Given the description of an element on the screen output the (x, y) to click on. 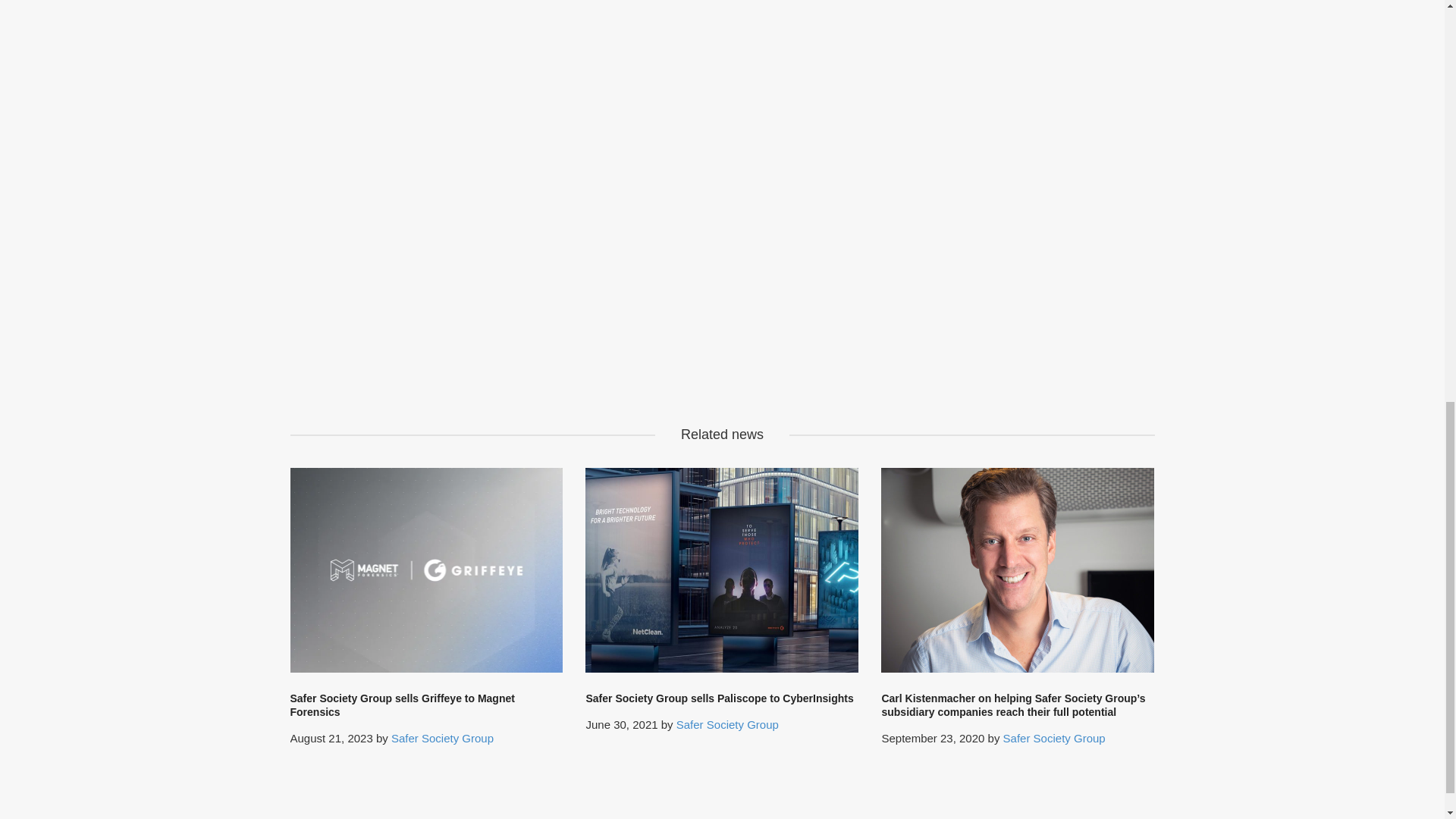
Safer Society Group (442, 738)
Safer Society Group sells Griffeye to Magnet Forensics (401, 705)
Safer Society Group (727, 724)
Safer Society Group (1054, 738)
Safer Society Group sells Paliscope to CyberInsights (719, 698)
